Given the description of an element on the screen output the (x, y) to click on. 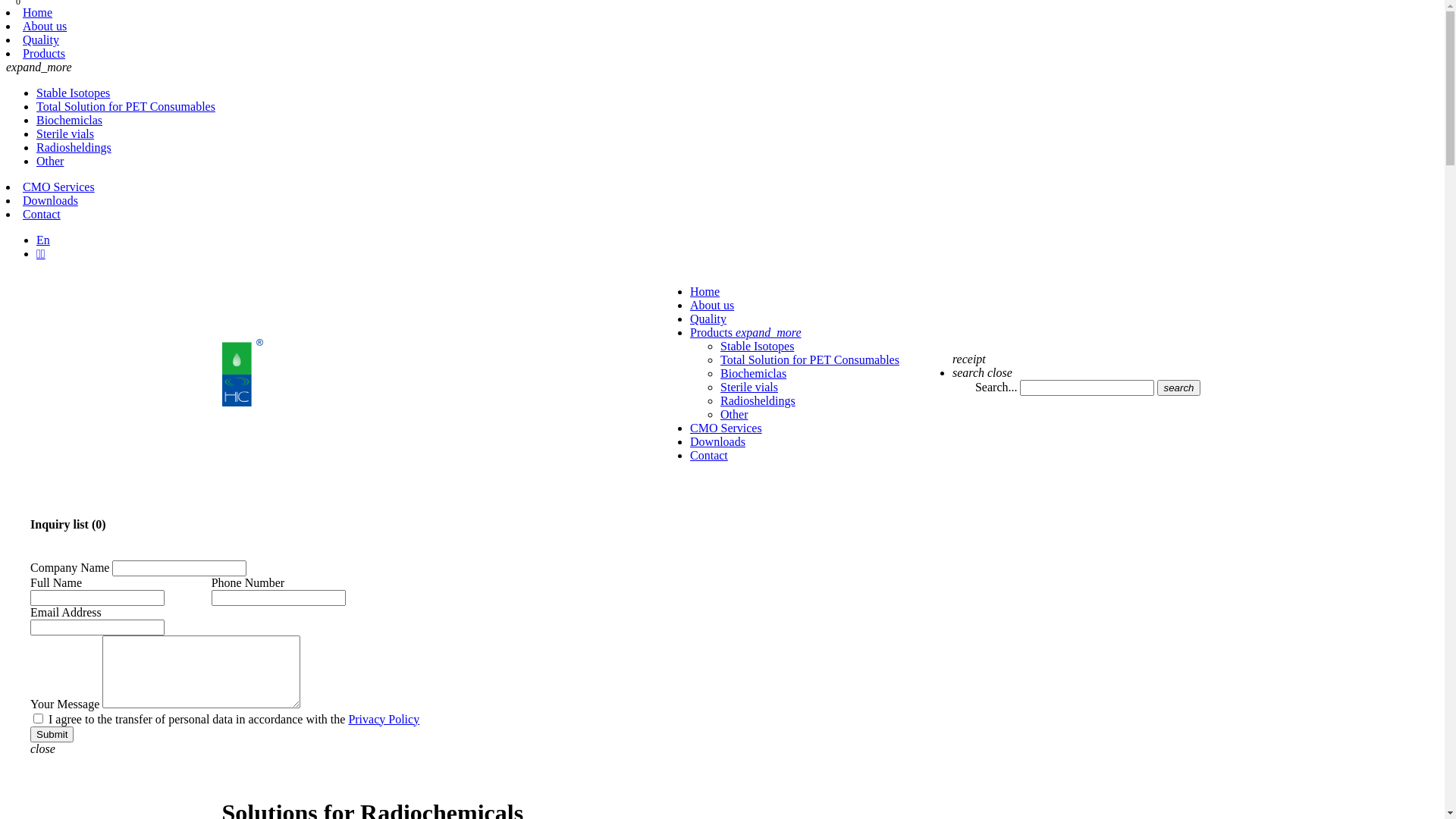
Quality Element type: text (40, 39)
Downloads Element type: text (50, 200)
Total Solution for PET Consumables Element type: text (125, 106)
About us Element type: text (44, 25)
Radiosheldings Element type: text (73, 147)
Privacy Policy Element type: text (383, 718)
Quality Element type: text (708, 318)
Stable Isotopes Element type: text (756, 345)
Sterile vials Element type: text (65, 133)
Downloads Element type: text (717, 441)
Other Element type: text (733, 413)
Other Element type: text (49, 160)
Home Element type: text (704, 291)
Stable Isotopes Element type: text (72, 92)
Radiosheldings Element type: text (757, 400)
Home Element type: text (37, 12)
Products Element type: text (43, 53)
Contact Element type: text (41, 213)
Complete Solutions for Radiopharmaceuticals Element type: hover (241, 401)
search Element type: text (1178, 387)
CMO Services Element type: text (58, 186)
CMO Services Element type: text (726, 427)
Biochemiclas Element type: text (69, 119)
Contact Element type: text (709, 454)
Sterile vials Element type: text (749, 386)
Biochemiclas Element type: text (753, 373)
Submit Element type: text (51, 734)
Products expand_more Element type: text (745, 332)
About us Element type: text (712, 304)
En Element type: text (43, 239)
Total Solution for PET Consumables Element type: text (809, 359)
